Given the description of an element on the screen output the (x, y) to click on. 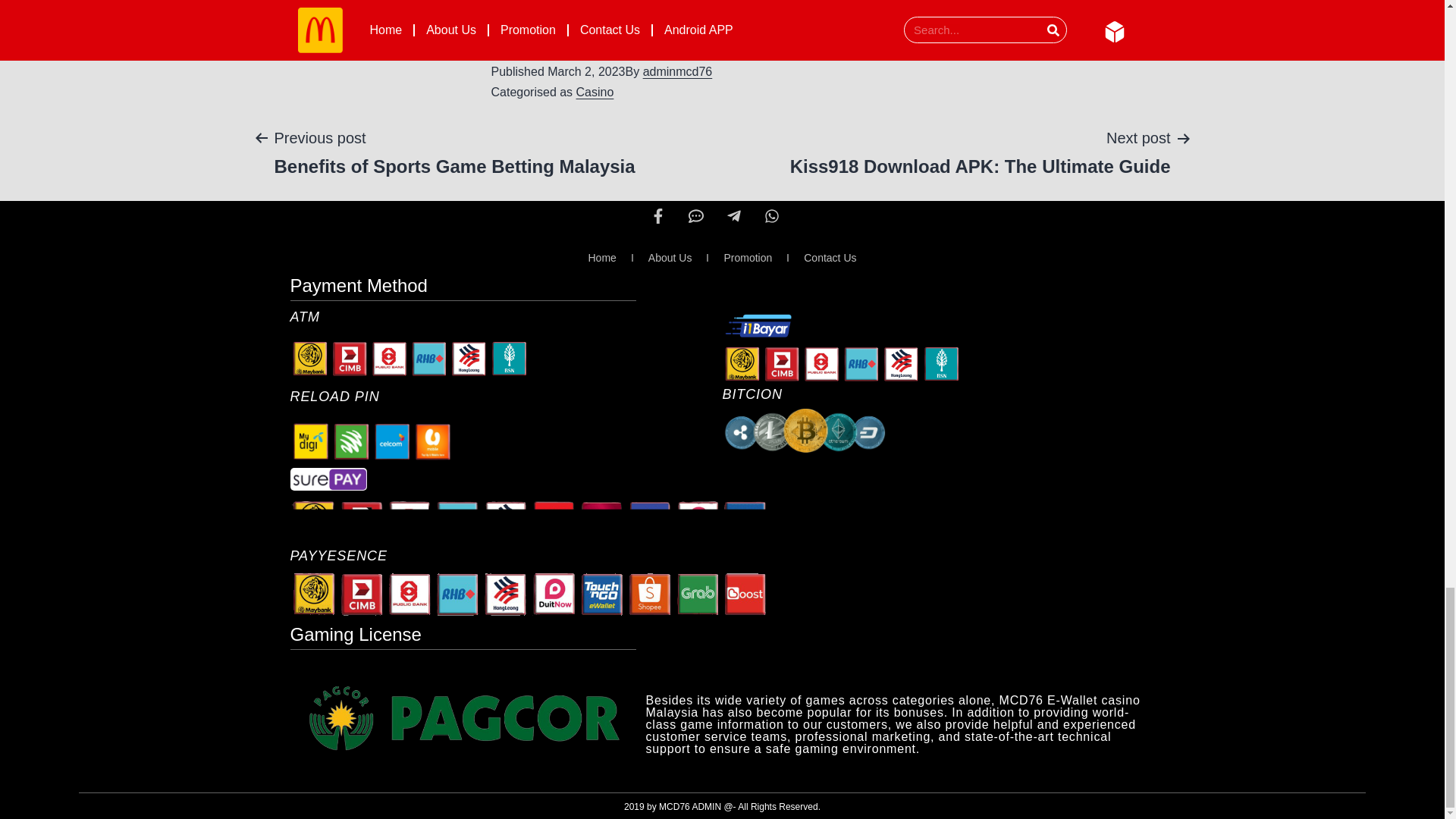
Bitcoin (804, 430)
MCD76 pay options (548, 594)
Ibayer-logo (757, 325)
About Us (670, 257)
Telco Logo (371, 441)
MCD76 PAGCOR Gaming License (463, 721)
Contact Us (829, 257)
surepay-logo (327, 478)
Casino (595, 91)
Home (601, 257)
